Given the description of an element on the screen output the (x, y) to click on. 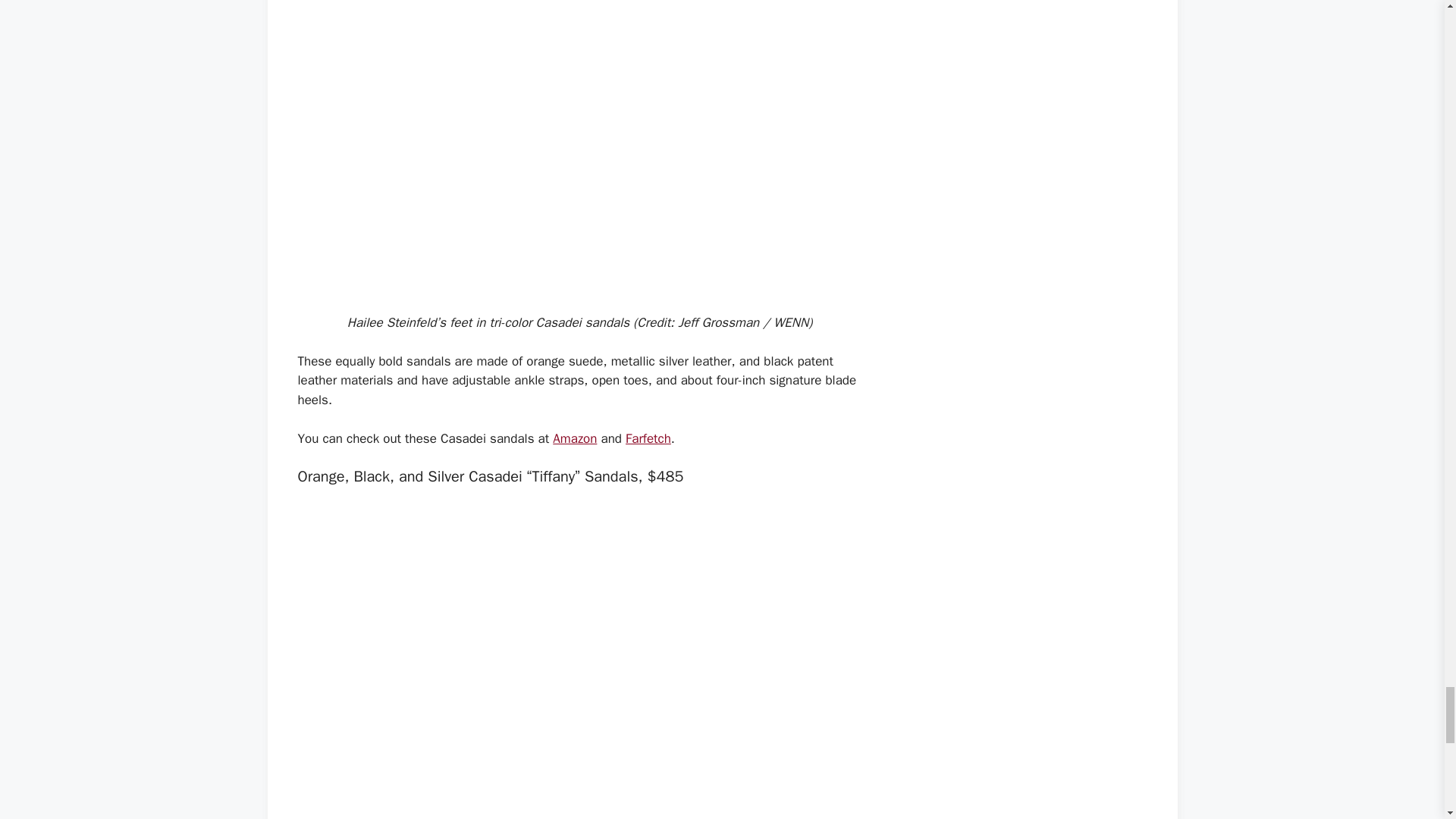
Farfetch (648, 438)
Amazon (574, 438)
